Given the description of an element on the screen output the (x, y) to click on. 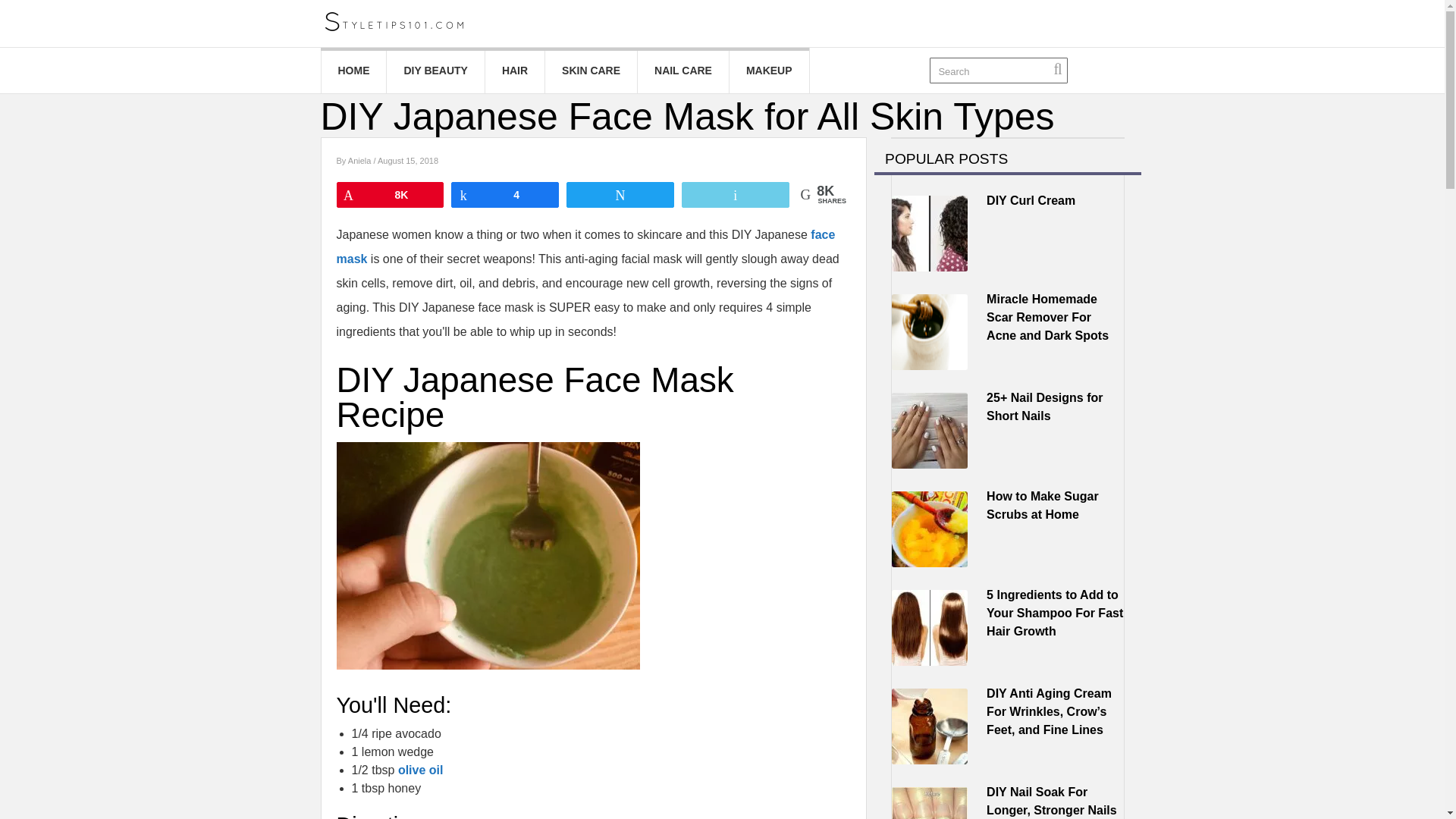
DIY BEAUTY (435, 70)
4 (504, 193)
face mask (585, 246)
8K (389, 193)
Avocado Mask (488, 555)
HAIR (514, 70)
olive oil (420, 769)
MAKEUP (769, 70)
SKIN CARE (590, 70)
NAIL CARE (683, 70)
olive oil (420, 769)
Aniela (360, 160)
face mask (585, 246)
HOME (354, 70)
